Given the description of an element on the screen output the (x, y) to click on. 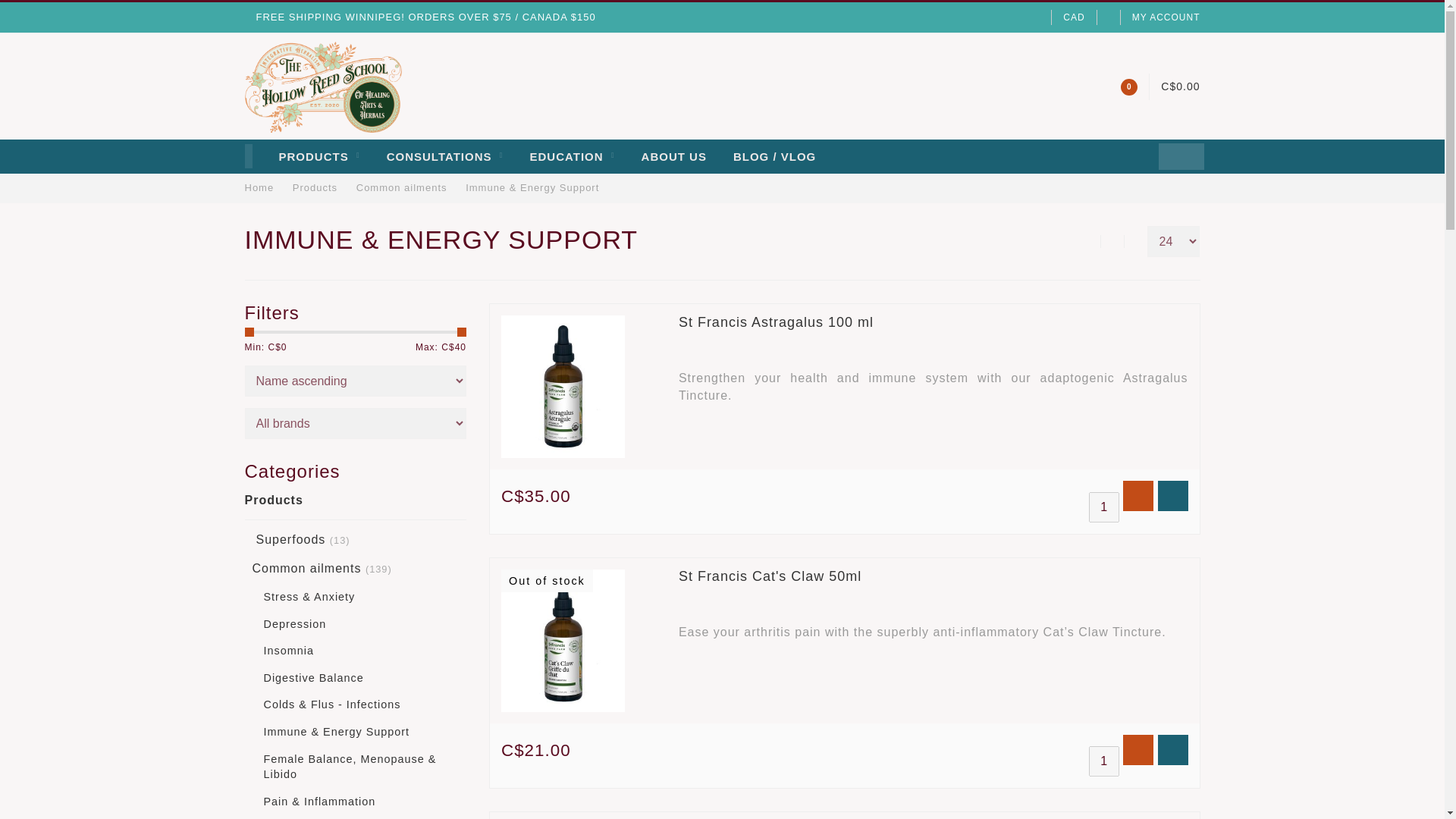
MY ACCOUNT (1165, 17)
St Francis Cat's Claw 50ml (769, 575)
Home (258, 187)
CAD (1073, 17)
1 (1104, 761)
1 (1104, 507)
St Francis Astragalus 100 ml (775, 322)
PRODUCTS (319, 156)
